Given the description of an element on the screen output the (x, y) to click on. 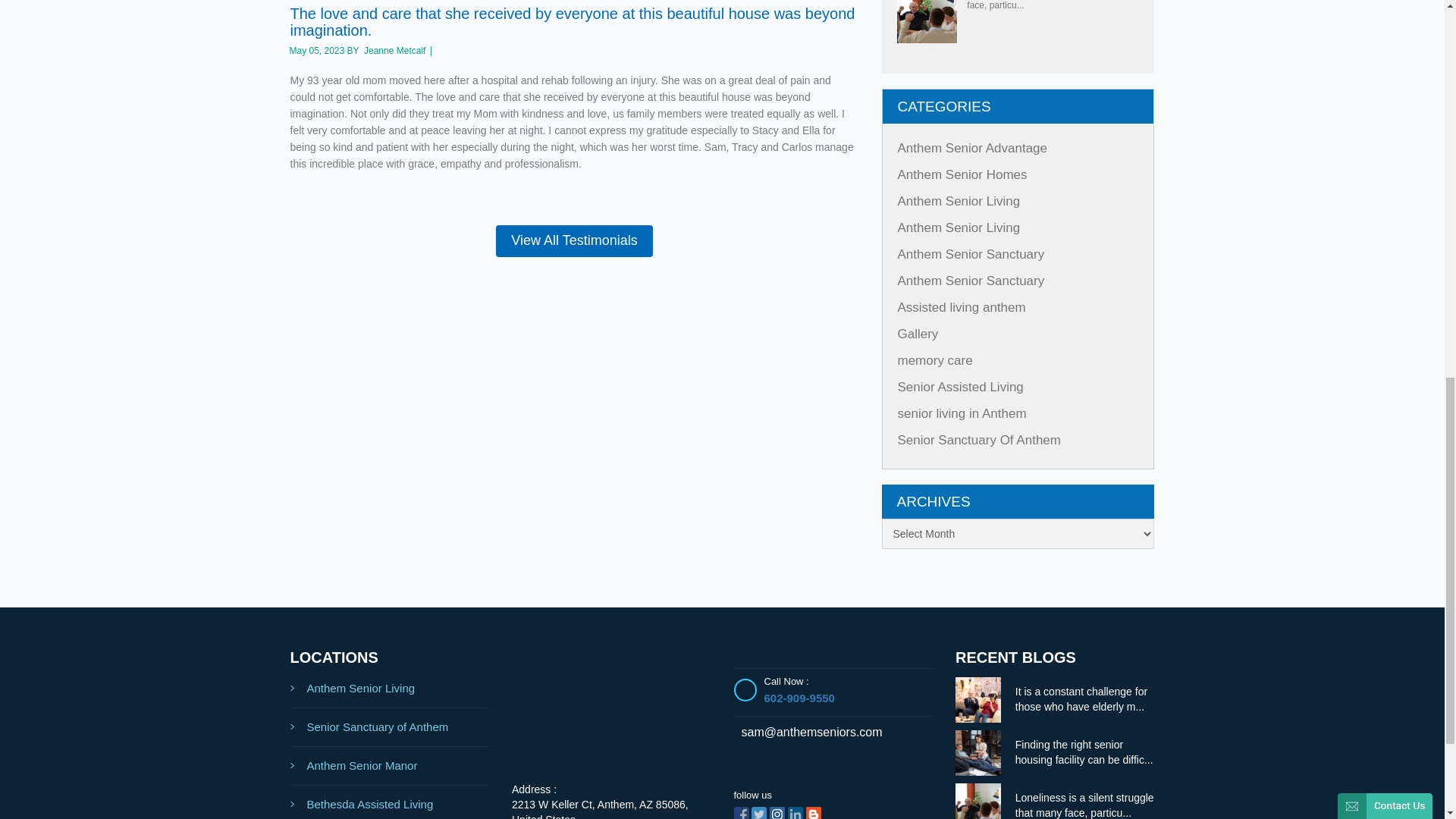
Bethesda Assisted Living (389, 802)
Anthem Senior Sanctuary (971, 280)
Senior Sanctuary Of Anthem (979, 440)
Gallery (918, 333)
Assisted living anthem (962, 307)
Senior Sanctuary of Anthem (389, 727)
Anthem Senior Living (959, 201)
Anthem Senior Living (389, 688)
Anthem Senior Sanctuary (971, 254)
View All Testimonials (574, 241)
Anthem Senior Advantage (973, 147)
Anthem Senior Manor (389, 765)
senior living in Anthem (962, 413)
Anthem Senior Homes (962, 174)
Senior Assisted Living (960, 386)
